Given the description of an element on the screen output the (x, y) to click on. 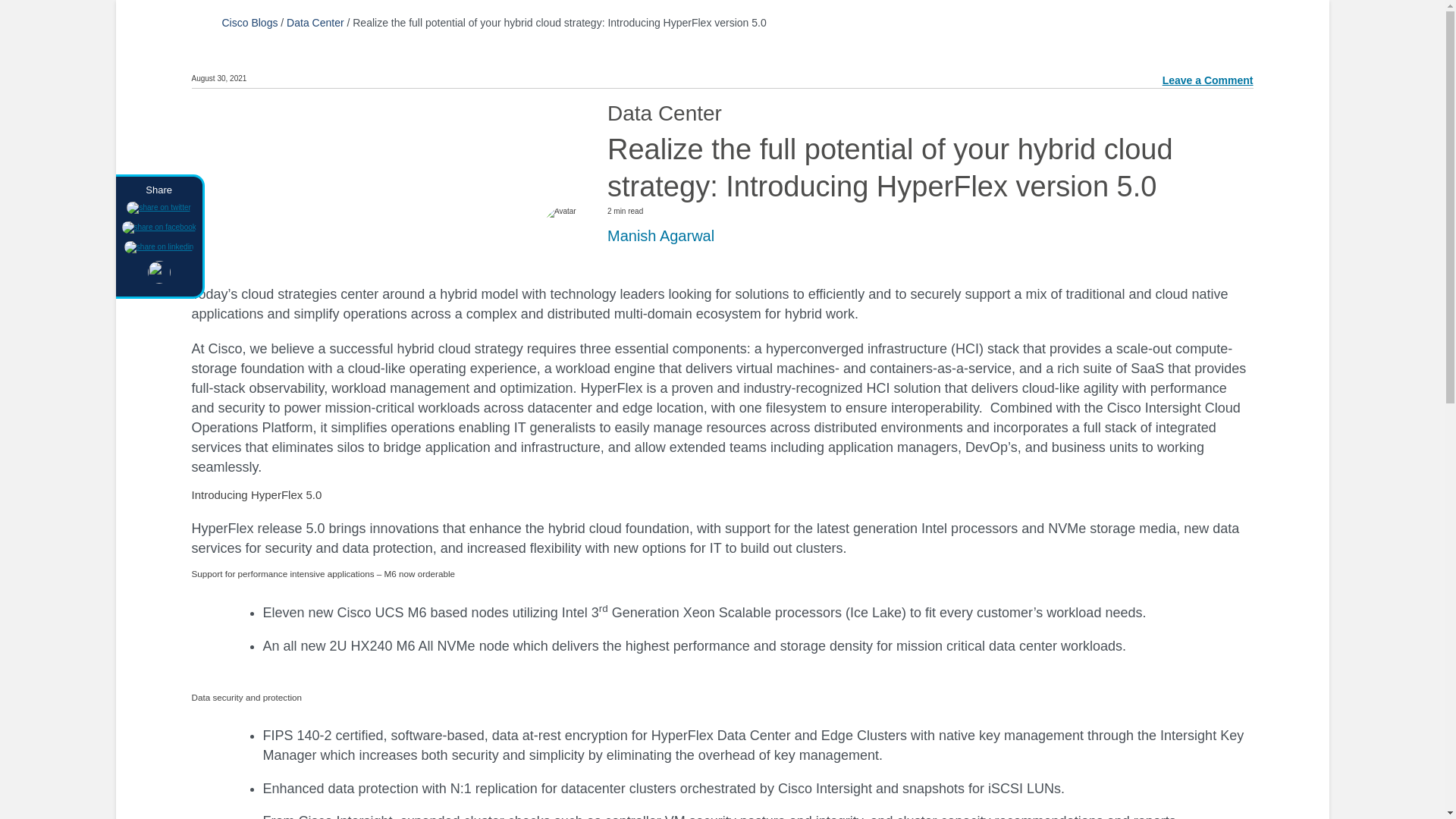
Posts by Manish Agarwal (660, 235)
Manish Agarwal (660, 235)
Data Center (314, 22)
Cisco Blogs (249, 22)
